Given the description of an element on the screen output the (x, y) to click on. 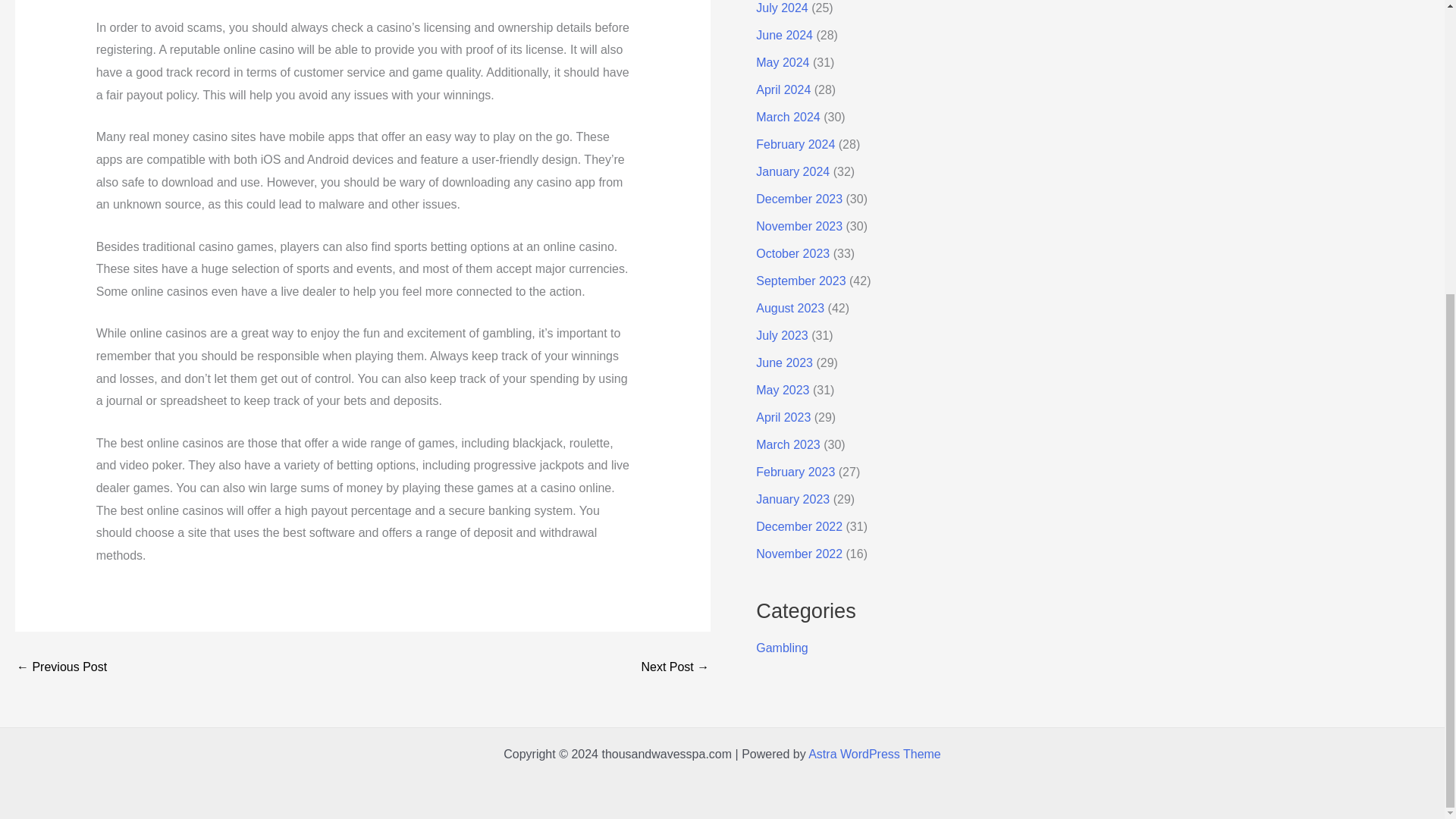
How to Avoid Losing Your Lottery Winnings (61, 666)
August 2023 (789, 308)
January 2024 (792, 171)
July 2024 (781, 7)
June 2024 (783, 34)
February 2023 (794, 472)
March 2024 (788, 116)
May 2024 (782, 62)
November 2022 (799, 553)
September 2023 (800, 280)
December 2022 (799, 526)
November 2023 (799, 226)
July 2023 (781, 335)
May 2023 (782, 390)
